Given the description of an element on the screen output the (x, y) to click on. 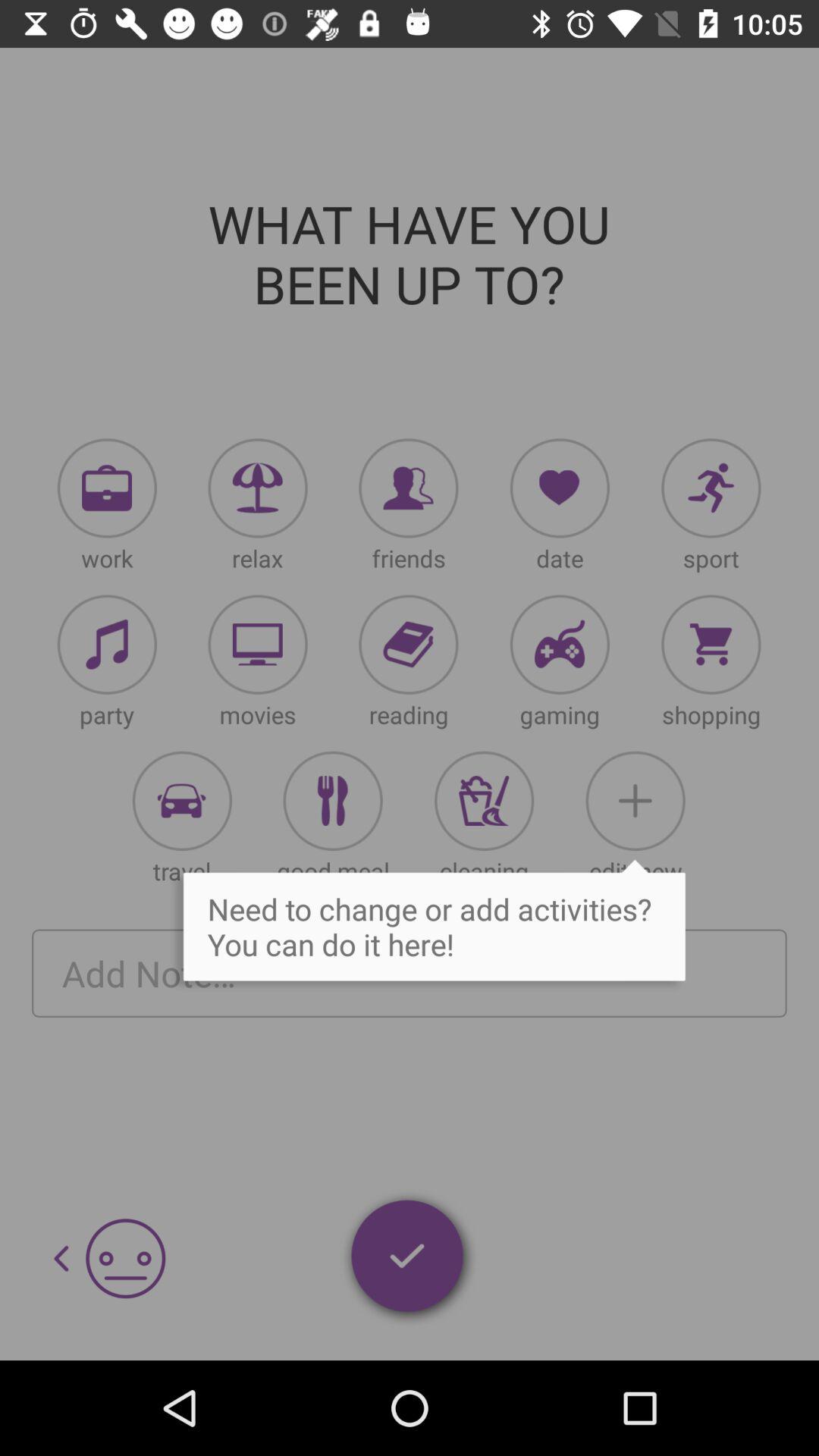
select relax (257, 488)
